Given the description of an element on the screen output the (x, y) to click on. 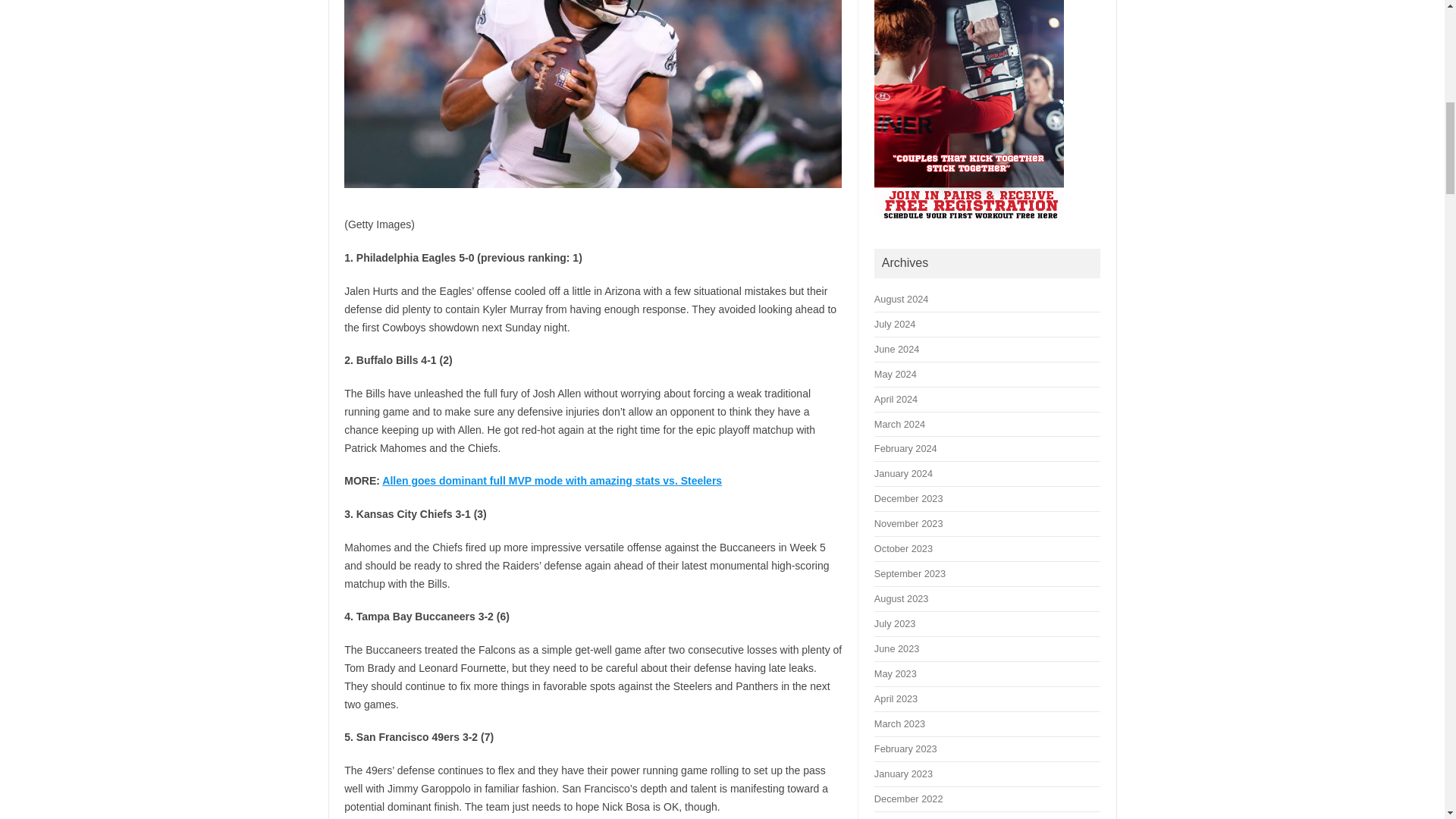
July 2024 (895, 324)
June 2024 (896, 348)
August 2024 (901, 298)
